Given the description of an element on the screen output the (x, y) to click on. 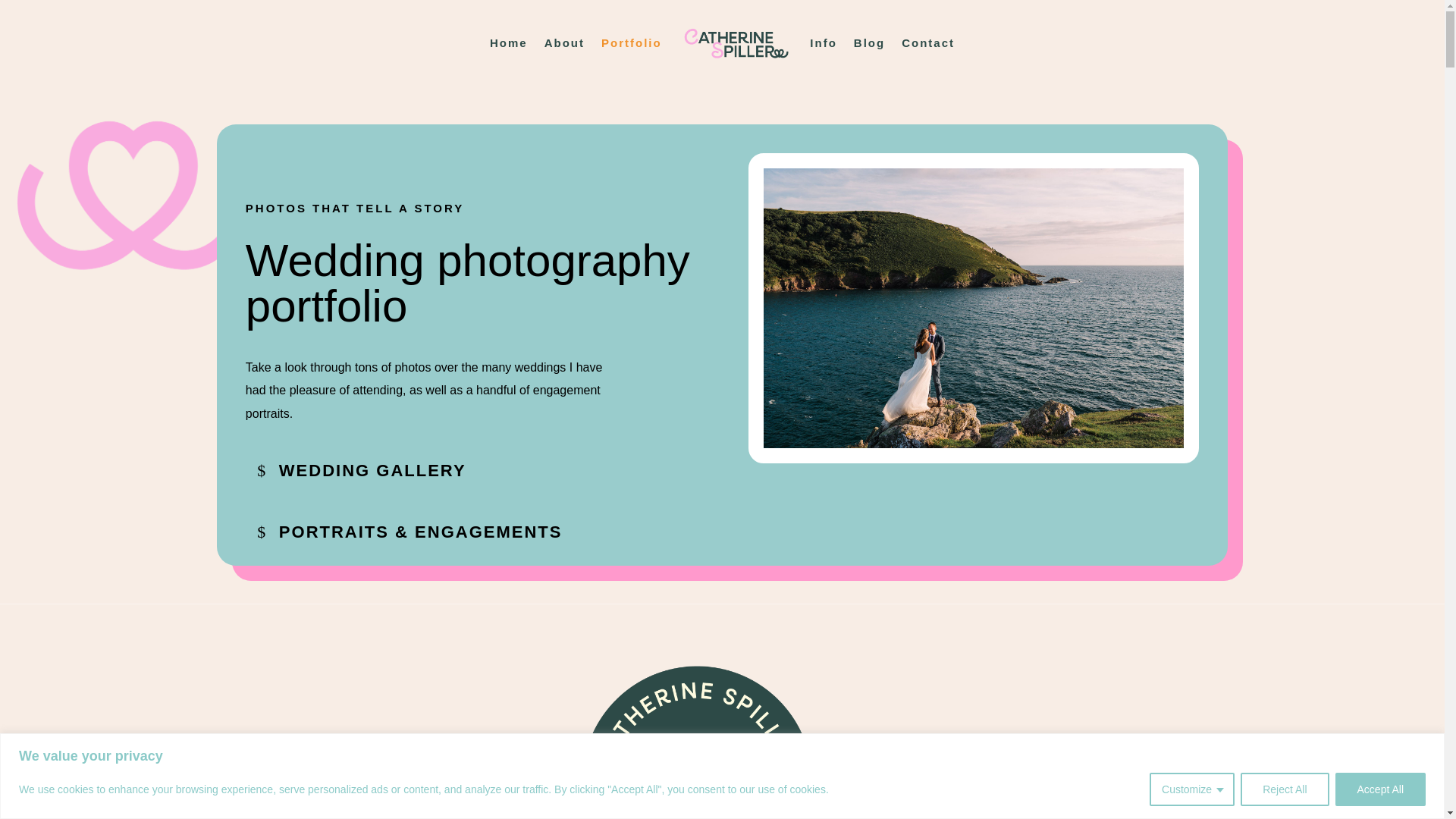
Accept All (1380, 788)
devon-wedding-photographer-13 (972, 307)
Contact (928, 43)
Reject All (1283, 788)
WEDDING GALLERY (361, 468)
Portfolio (631, 43)
Customize (1192, 788)
